Given the description of an element on the screen output the (x, y) to click on. 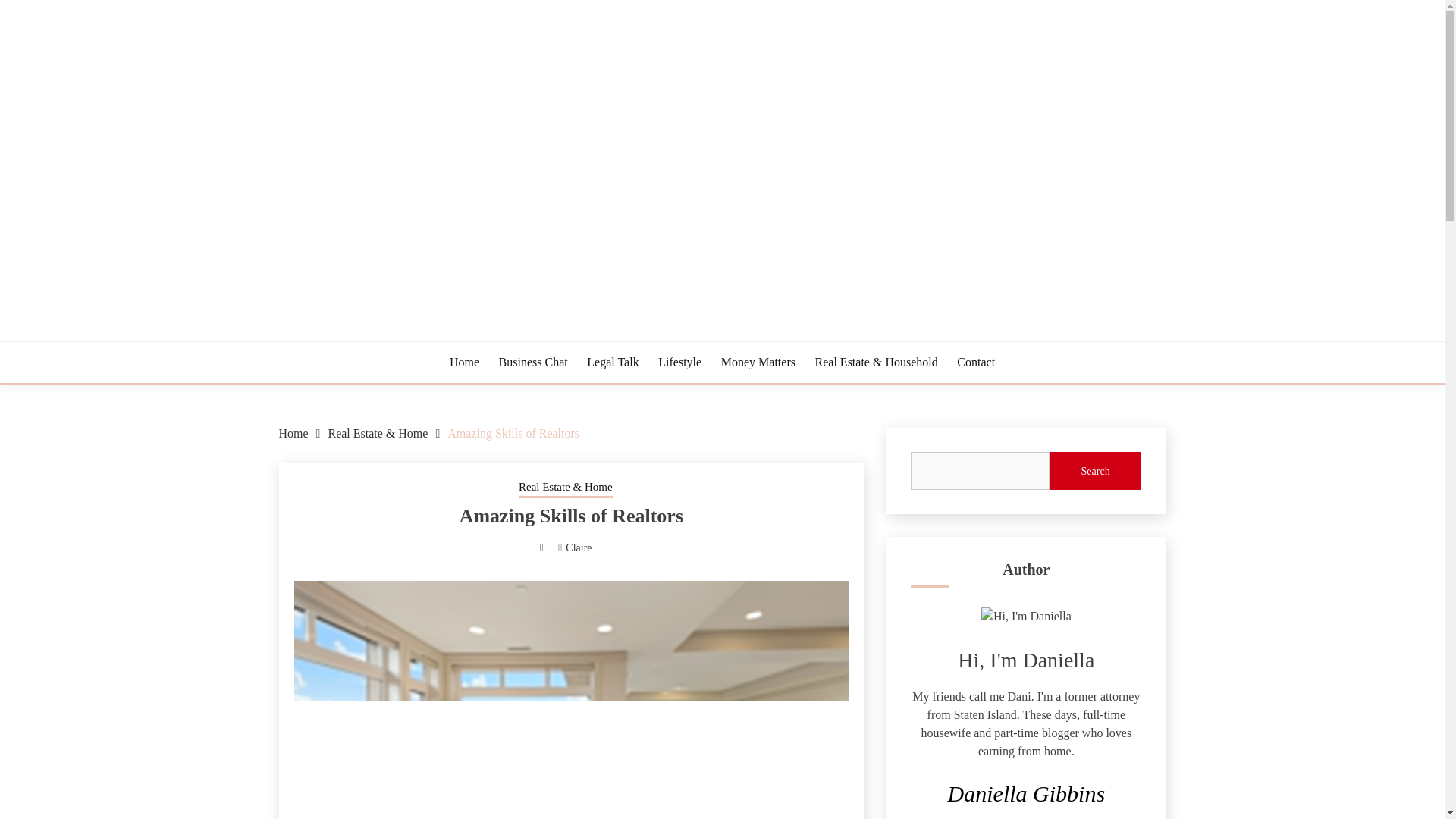
Contact (975, 361)
Search (1095, 470)
Money Matters (757, 361)
Claire (578, 547)
Home (293, 432)
Legal Talk (612, 361)
Business Chat (533, 361)
Home (464, 361)
Amazing Skills of Realtors (512, 432)
Lifestyle (679, 361)
RIOT HOUSEWIVES (411, 338)
